Given the description of an element on the screen output the (x, y) to click on. 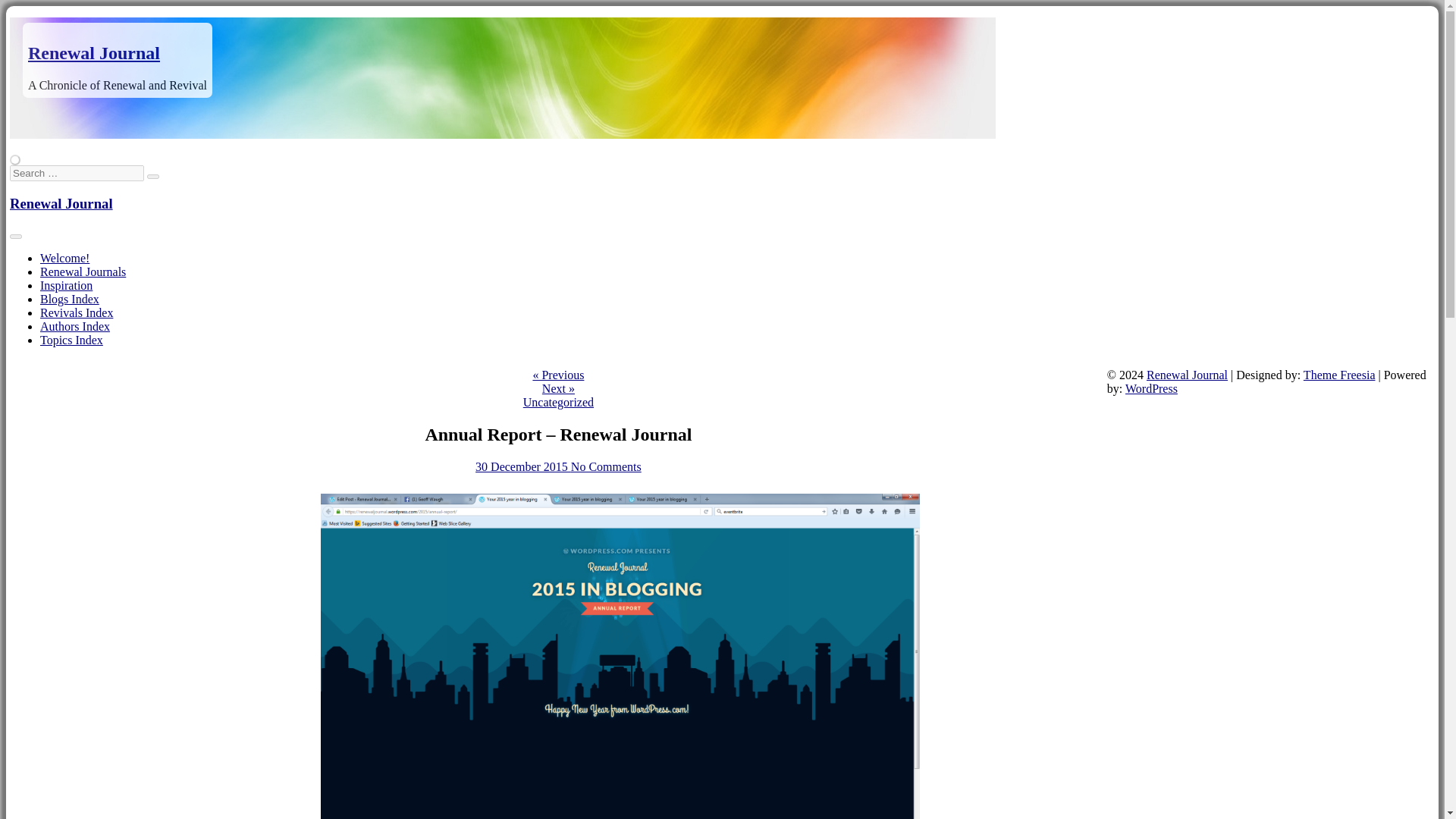
Renewal Journal (61, 203)
No Comments (606, 466)
11:22 am (523, 466)
Uncategorized (558, 401)
Revivals Index (76, 312)
Inspiration (66, 285)
Renewal Journal (93, 53)
Renewal Journal (61, 203)
